Given the description of an element on the screen output the (x, y) to click on. 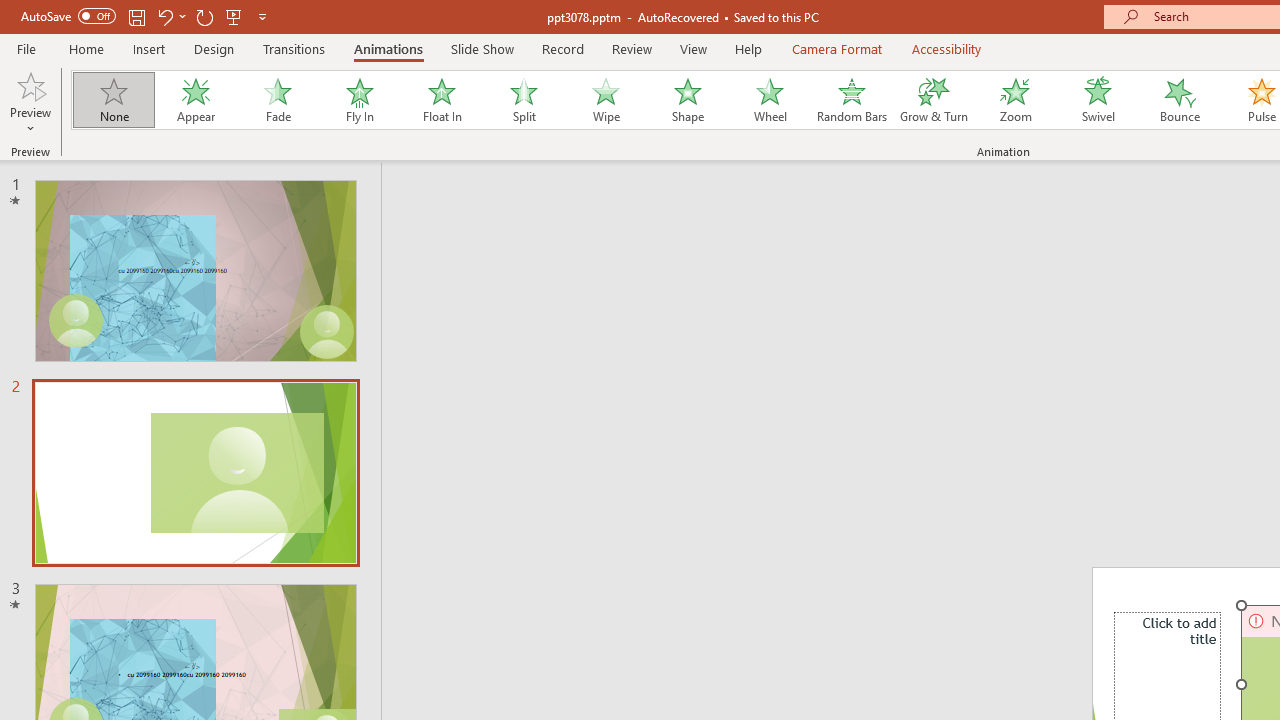
Random Bars (852, 100)
Fade (277, 100)
Wipe (605, 100)
None (113, 100)
Fly In (359, 100)
